Given the description of an element on the screen output the (x, y) to click on. 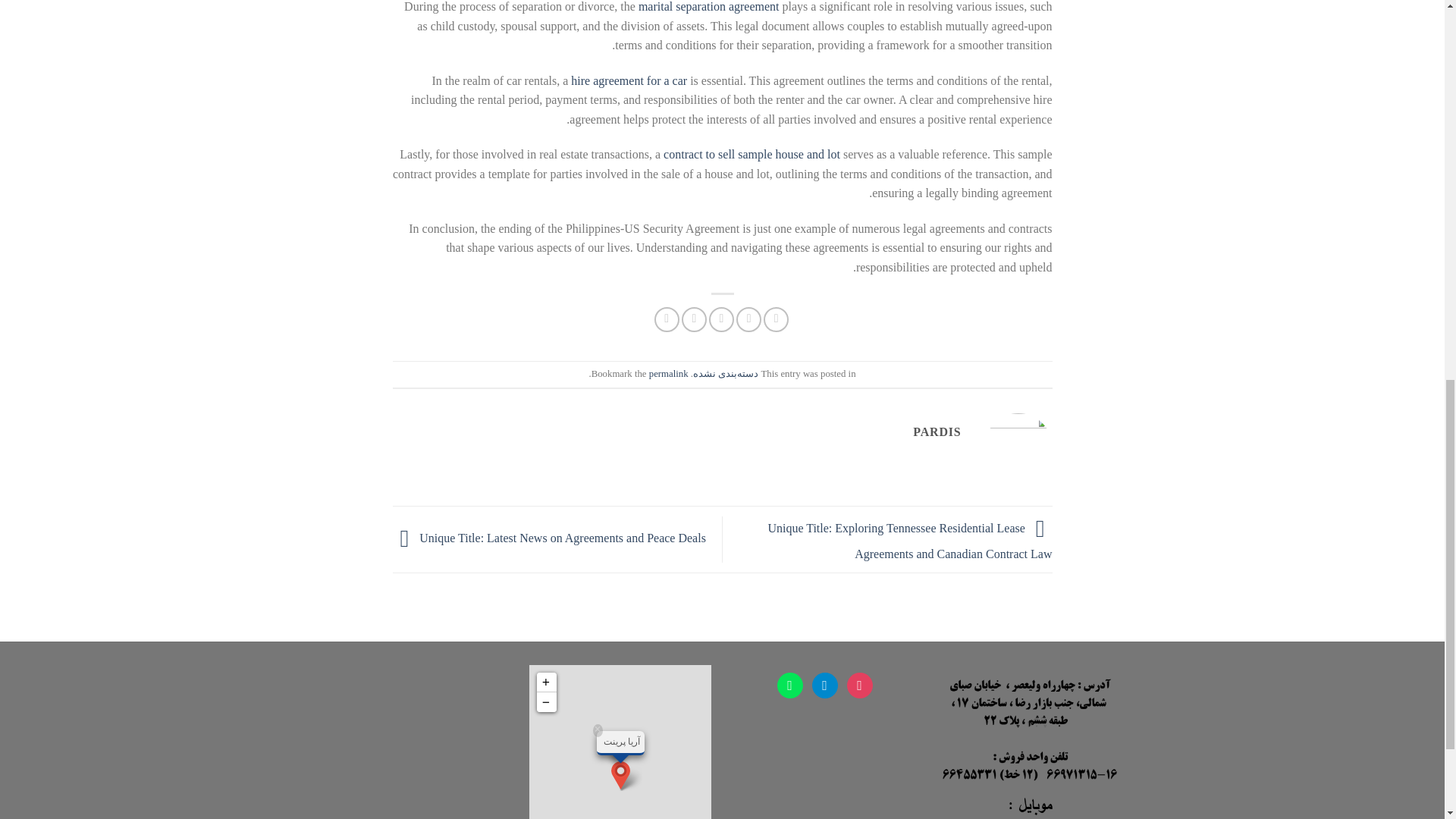
Zoom out (546, 701)
Zoom in (546, 681)
